Given the description of an element on the screen output the (x, y) to click on. 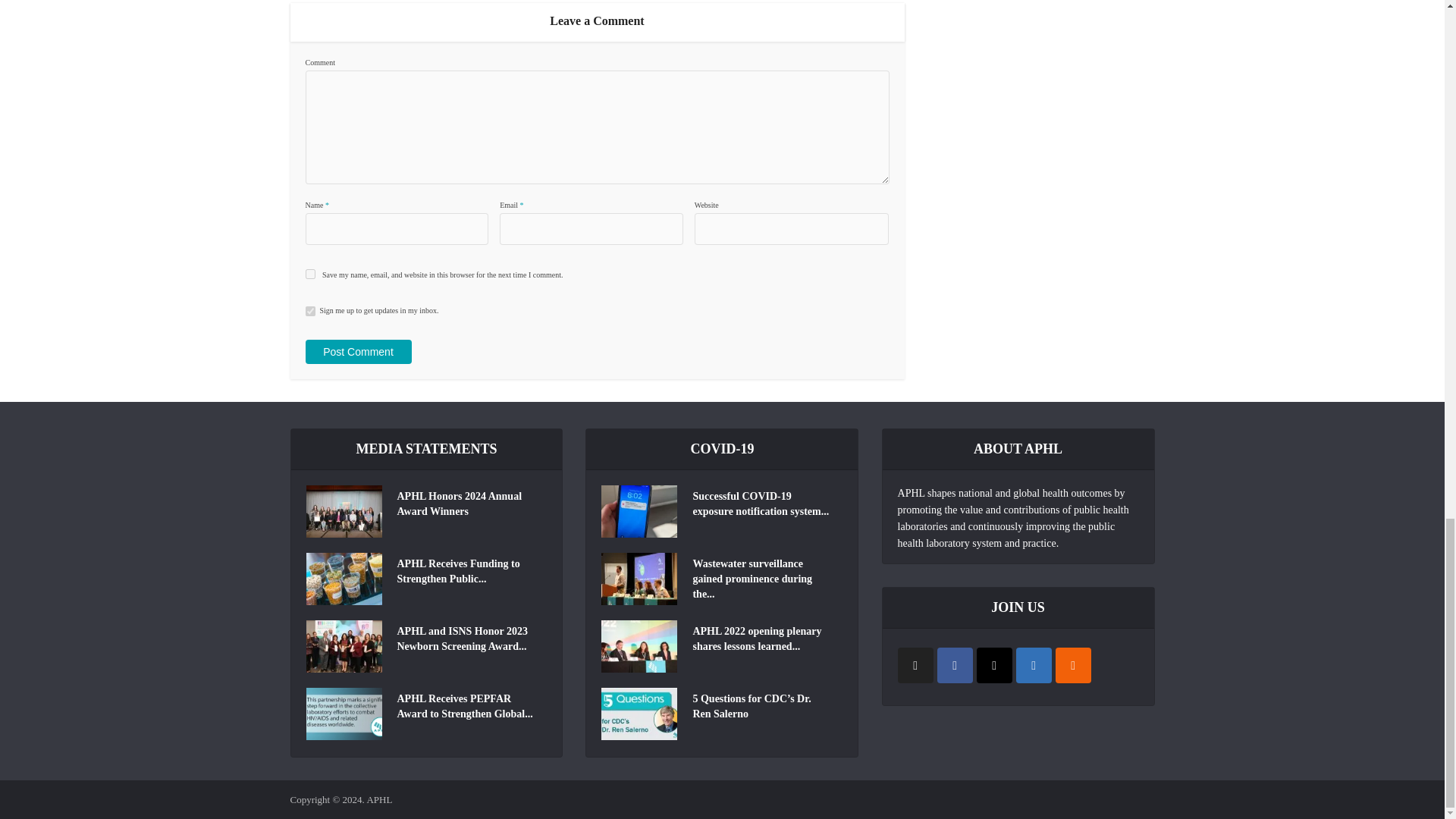
yes (309, 274)
1 (309, 311)
Post Comment (357, 351)
